Given the description of an element on the screen output the (x, y) to click on. 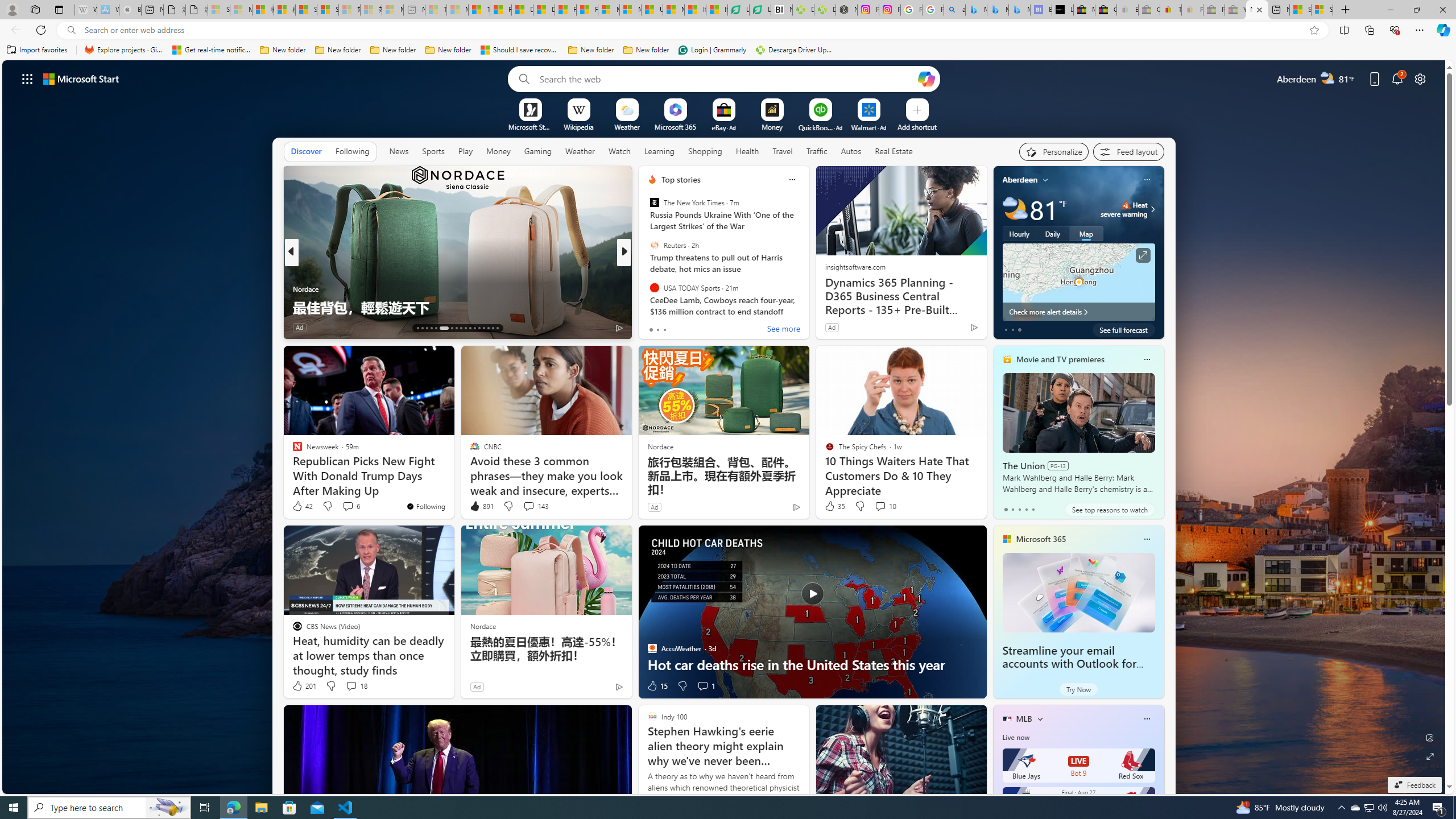
221 Like (654, 327)
AutomationID: tab-19 (451, 328)
AutomationID: tab-22 (465, 328)
Microsoft Services Agreement - Sleeping (241, 9)
Press Room - eBay Inc. - Sleeping (1214, 9)
AutomationID: tab-23 (470, 328)
Personalize your feed" (1054, 151)
